Given the description of an element on the screen output the (x, y) to click on. 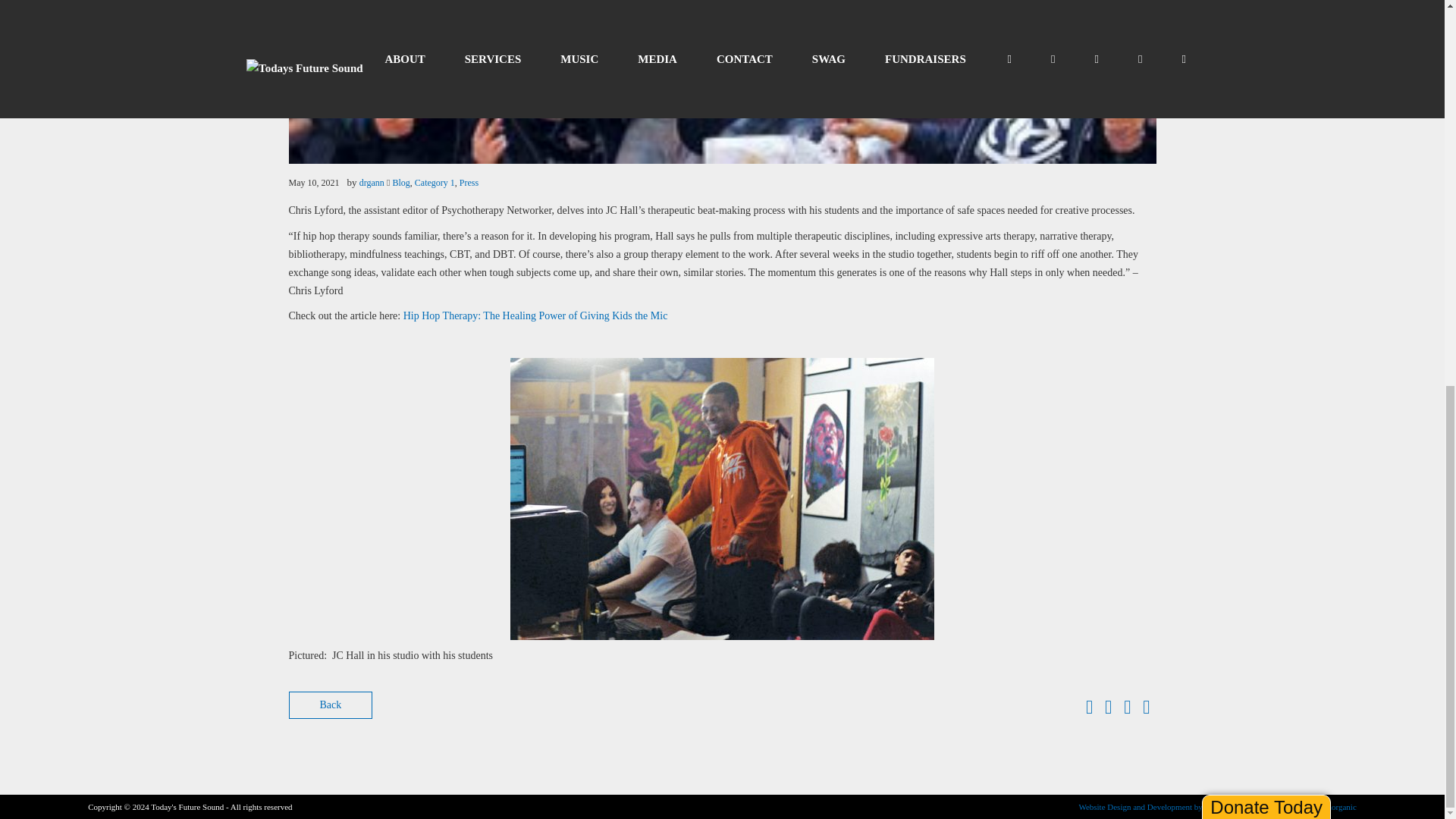
Hip Hop Therapy: The Healing Power of Giving Kids the Mic (535, 315)
Share on LinkedIn (1127, 709)
Back (330, 705)
Press (469, 182)
drgann (371, 182)
Donate Today (1266, 80)
Share on Pinterest (1146, 709)
Website Design and Development by Ironistic (1154, 806)
Share on Facebook (1089, 709)
Category 1 (434, 182)
Share on Twitter (1108, 709)
modernorganic (1330, 806)
Blog (401, 182)
